Given the description of an element on the screen output the (x, y) to click on. 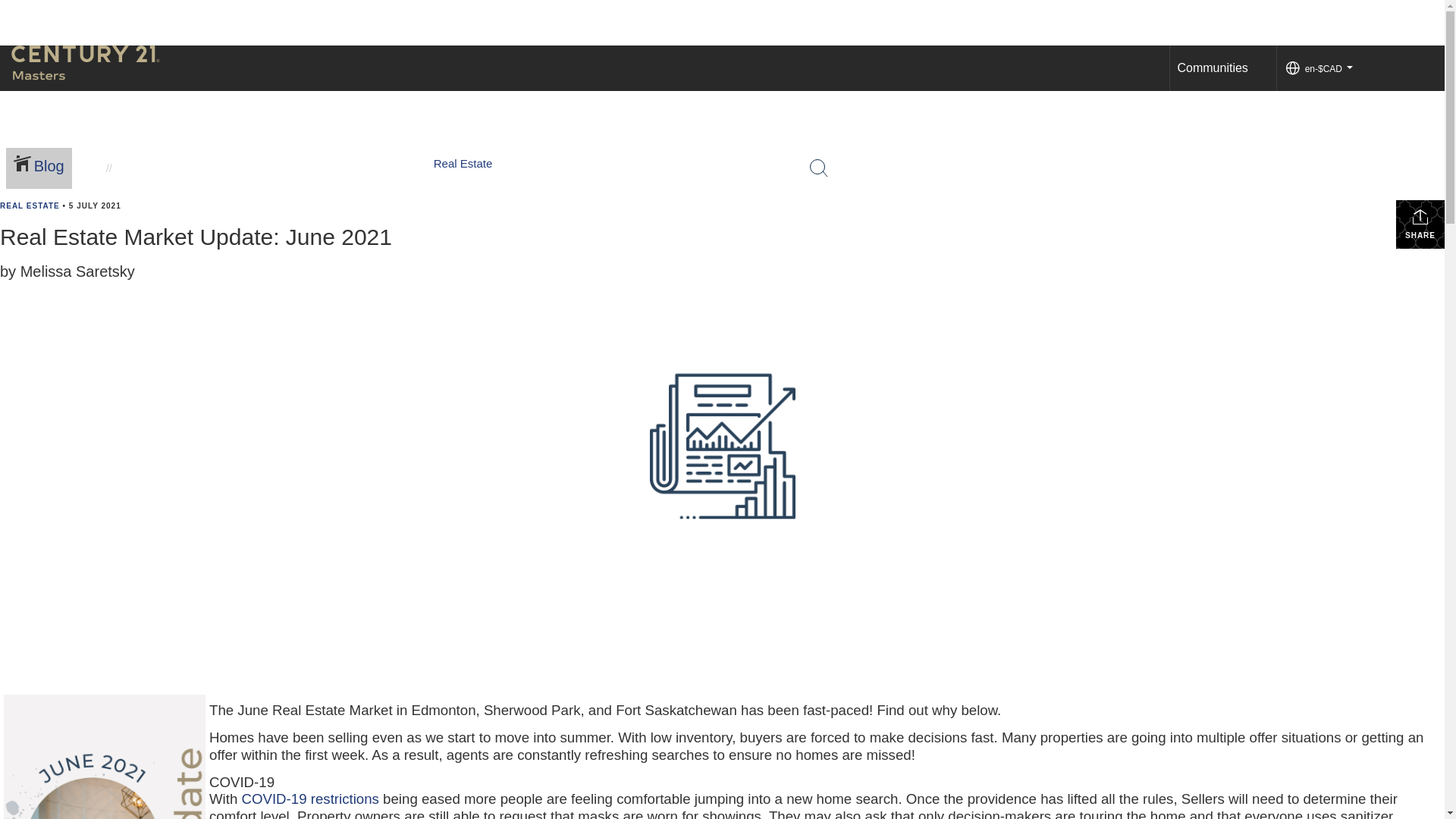
South Fort Meadows (1234, 97)
Mortgage Calculator (1023, 187)
About Mel (923, 200)
Old Fort (1202, 174)
Communities (1212, 67)
Mortgage (996, 174)
Selling (989, 161)
Sherridon (1206, 149)
Buying (989, 149)
SHARE (1420, 223)
Blog (41, 167)
Get advice (995, 119)
Sienna (1200, 135)
Home (864, 200)
Shop Local (1131, 200)
